Given the description of an element on the screen output the (x, y) to click on. 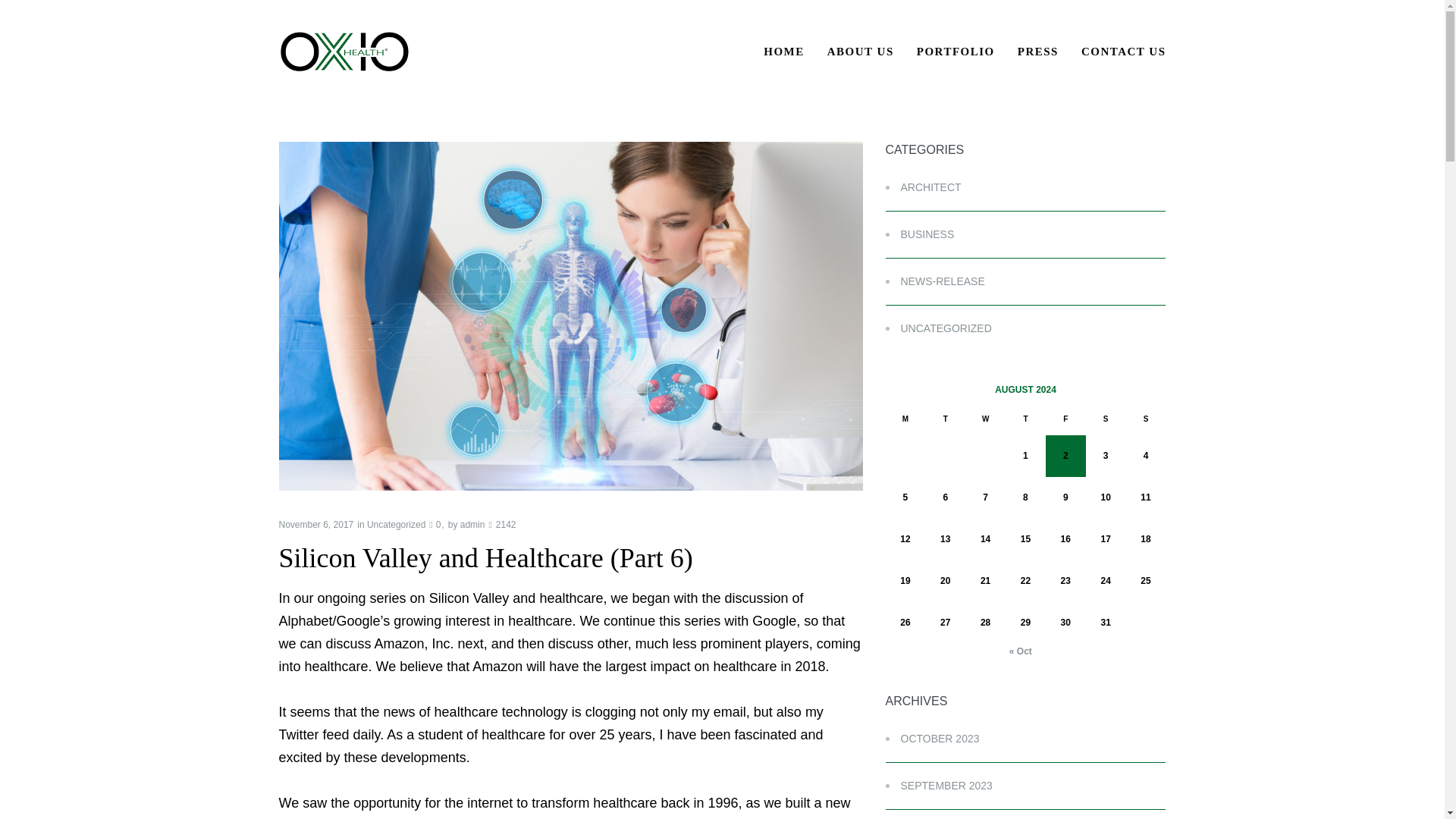
Saturday (1105, 419)
PRESS (1038, 51)
Wednesday (985, 419)
Uncategorized (395, 524)
admin (472, 524)
November 6, 2017 (316, 524)
Thursday (1025, 419)
HOME (783, 51)
PORTFOLIO (955, 51)
0 (435, 524)
